Given the description of an element on the screen output the (x, y) to click on. 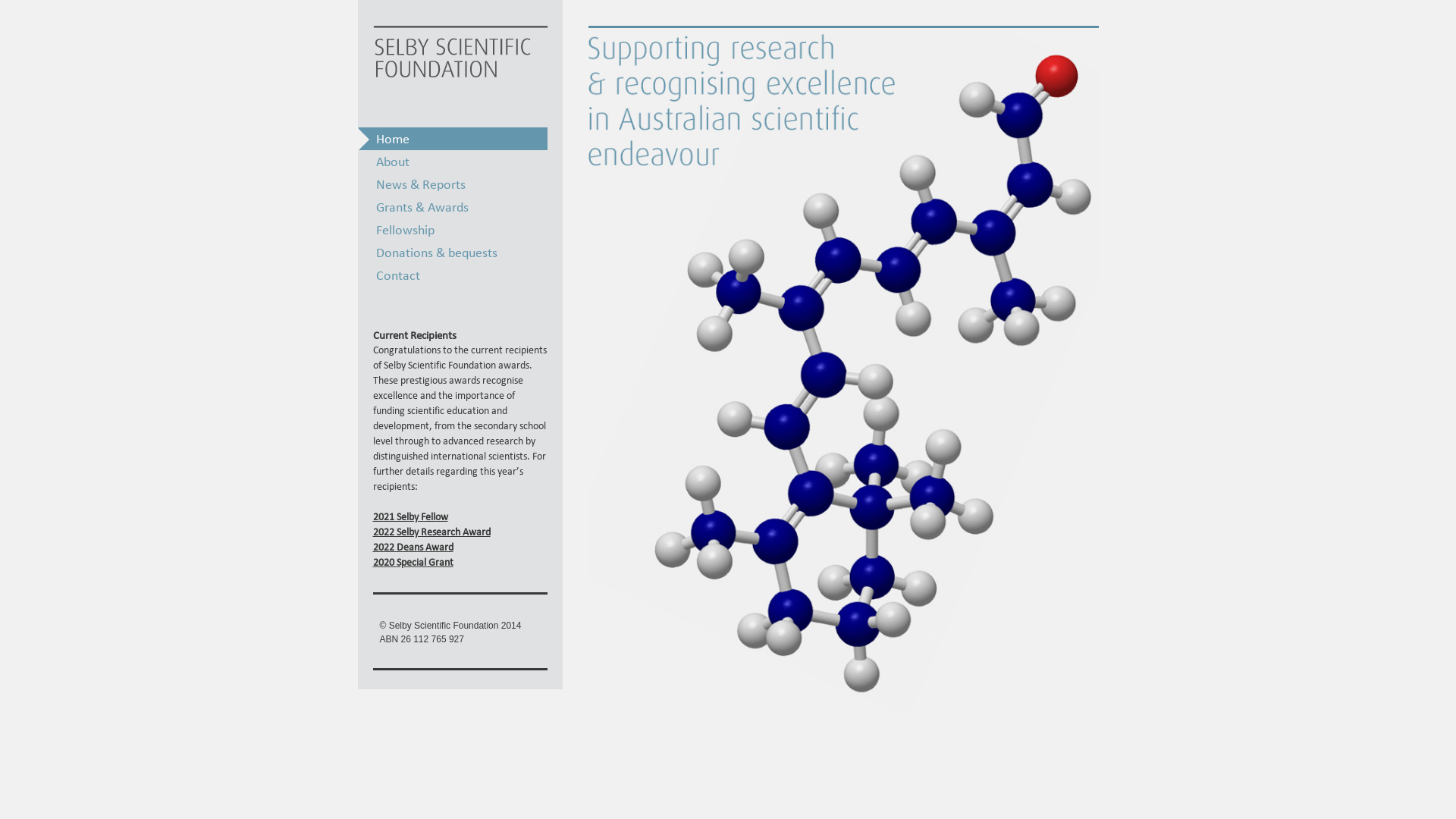
Contact Element type: text (452, 274)
Fellowship Element type: text (452, 229)
2020 Special Grant Element type: text (460, 562)
Home Element type: text (452, 138)
2021 Selby Fellow Element type: text (460, 516)
2022 Deans Award Element type: text (460, 547)
About Element type: text (452, 161)
Grants & Awards Element type: text (452, 206)
2022 Selby Research Award Element type: text (460, 531)
News & Reports Element type: text (452, 183)
Donations & bequests Element type: text (452, 252)
